Given the description of an element on the screen output the (x, y) to click on. 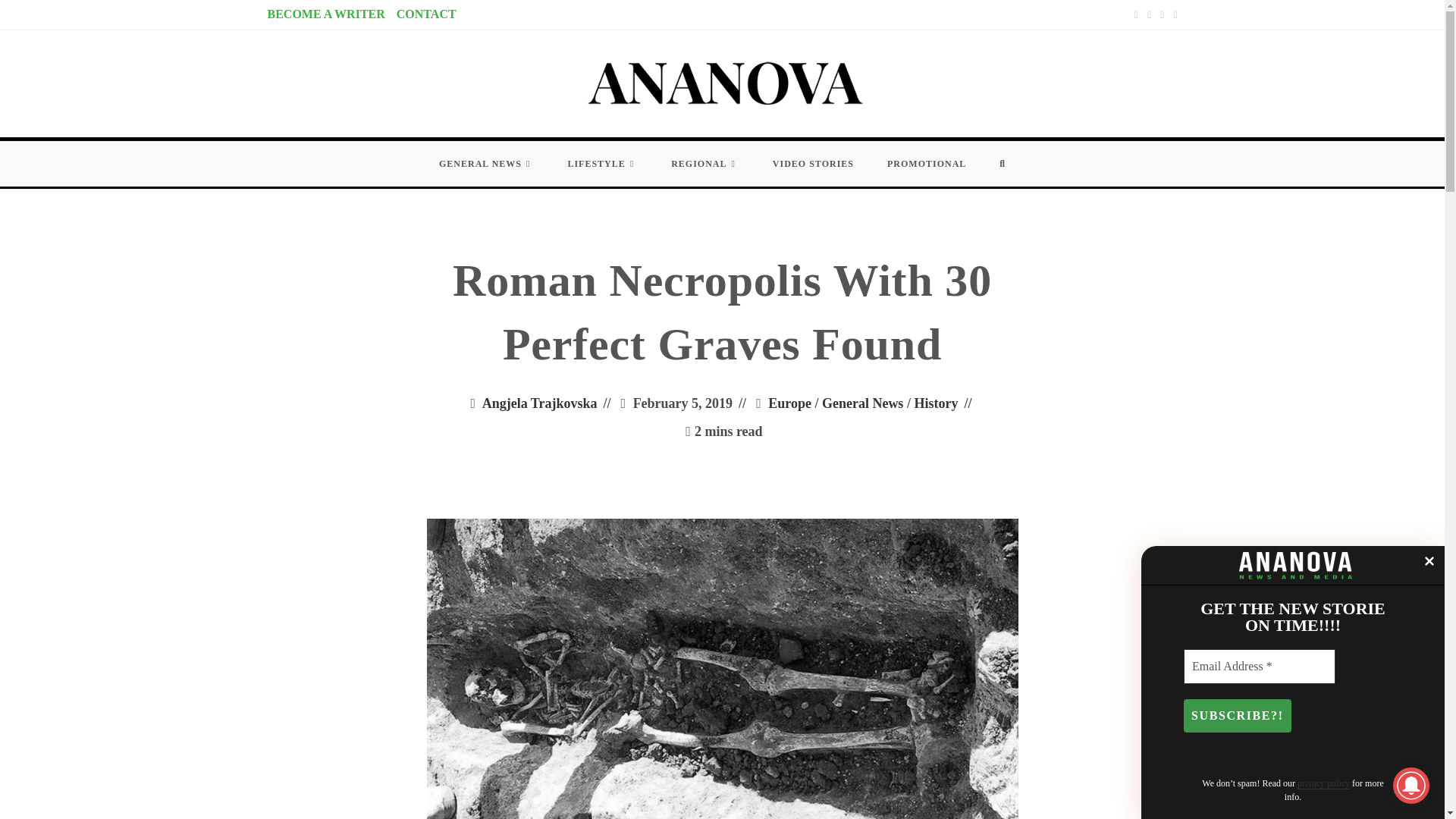
Email Address (1259, 666)
CONTACT (426, 13)
GENERAL NEWS (486, 163)
SUBSCRIBE?! (1237, 715)
BECOME A WRITER (325, 13)
LIFESTYLE (601, 163)
